Given the description of an element on the screen output the (x, y) to click on. 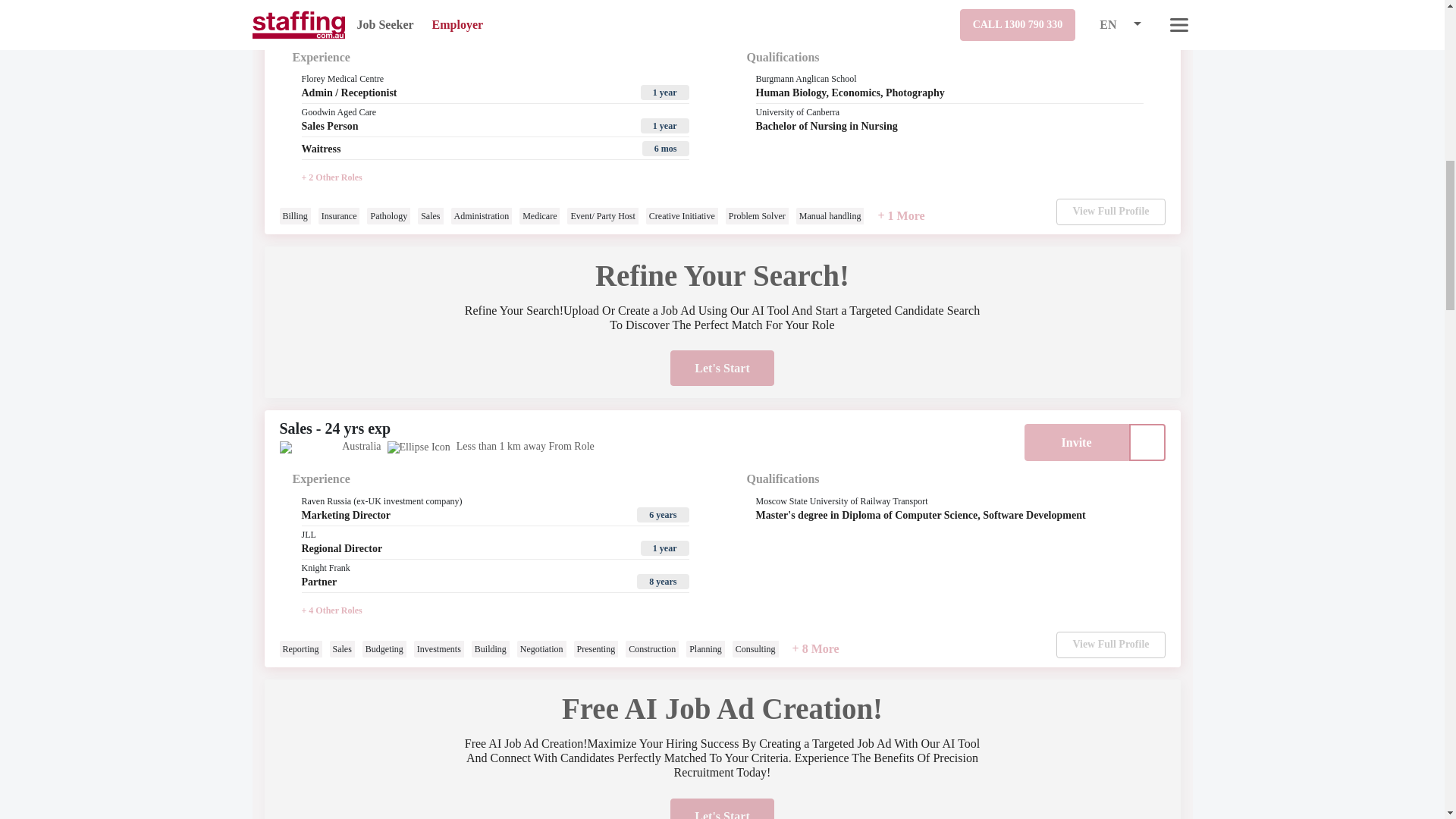
Invite (1075, 19)
View Full Profile (1110, 644)
View Full Profile (1110, 212)
Let's Start (721, 808)
Invite (1075, 442)
on (1146, 442)
Let's Start (721, 367)
on (1146, 19)
